Given the description of an element on the screen output the (x, y) to click on. 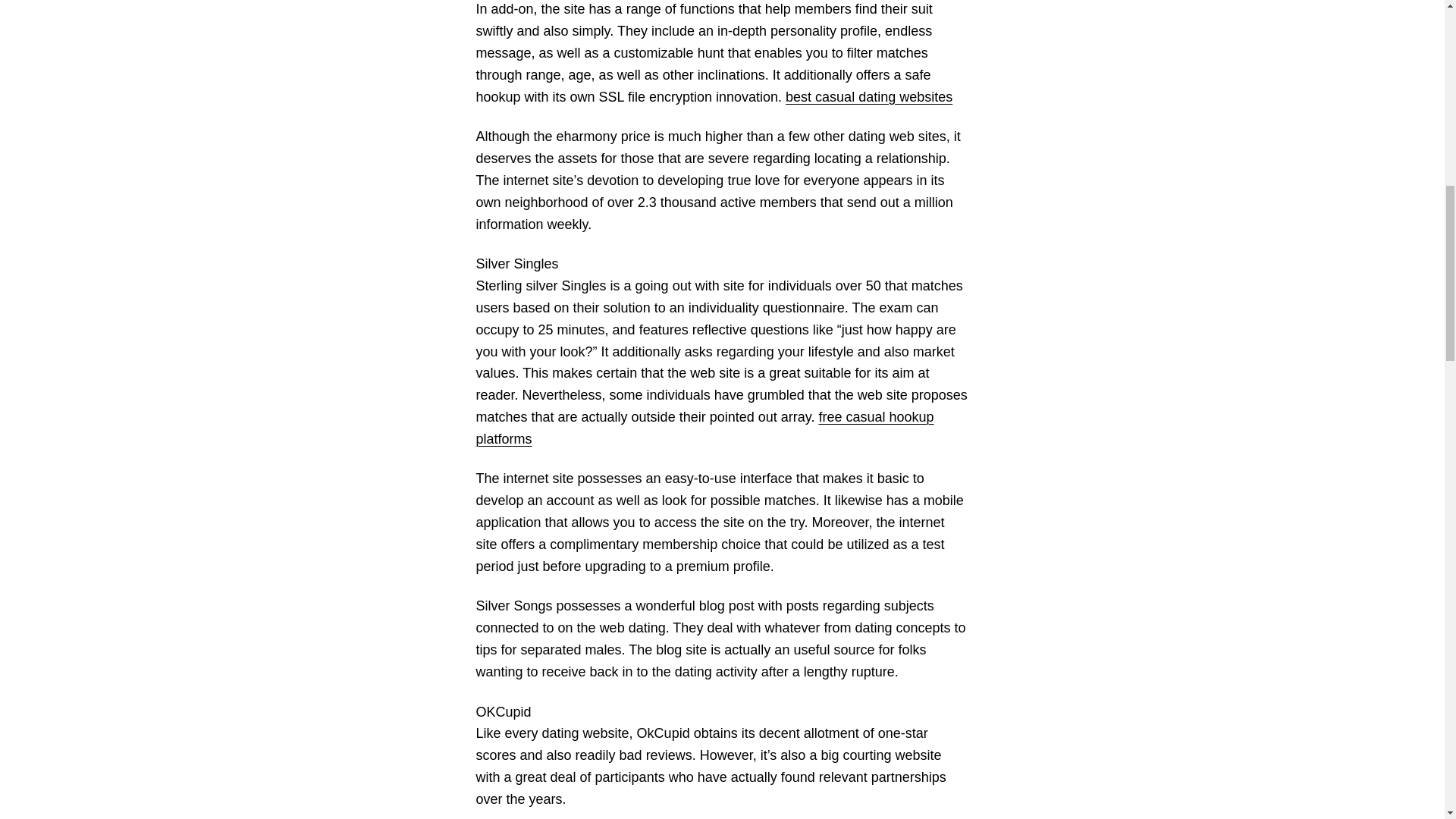
best casual dating websites (869, 96)
free casual hookup platforms (705, 427)
